Given the description of an element on the screen output the (x, y) to click on. 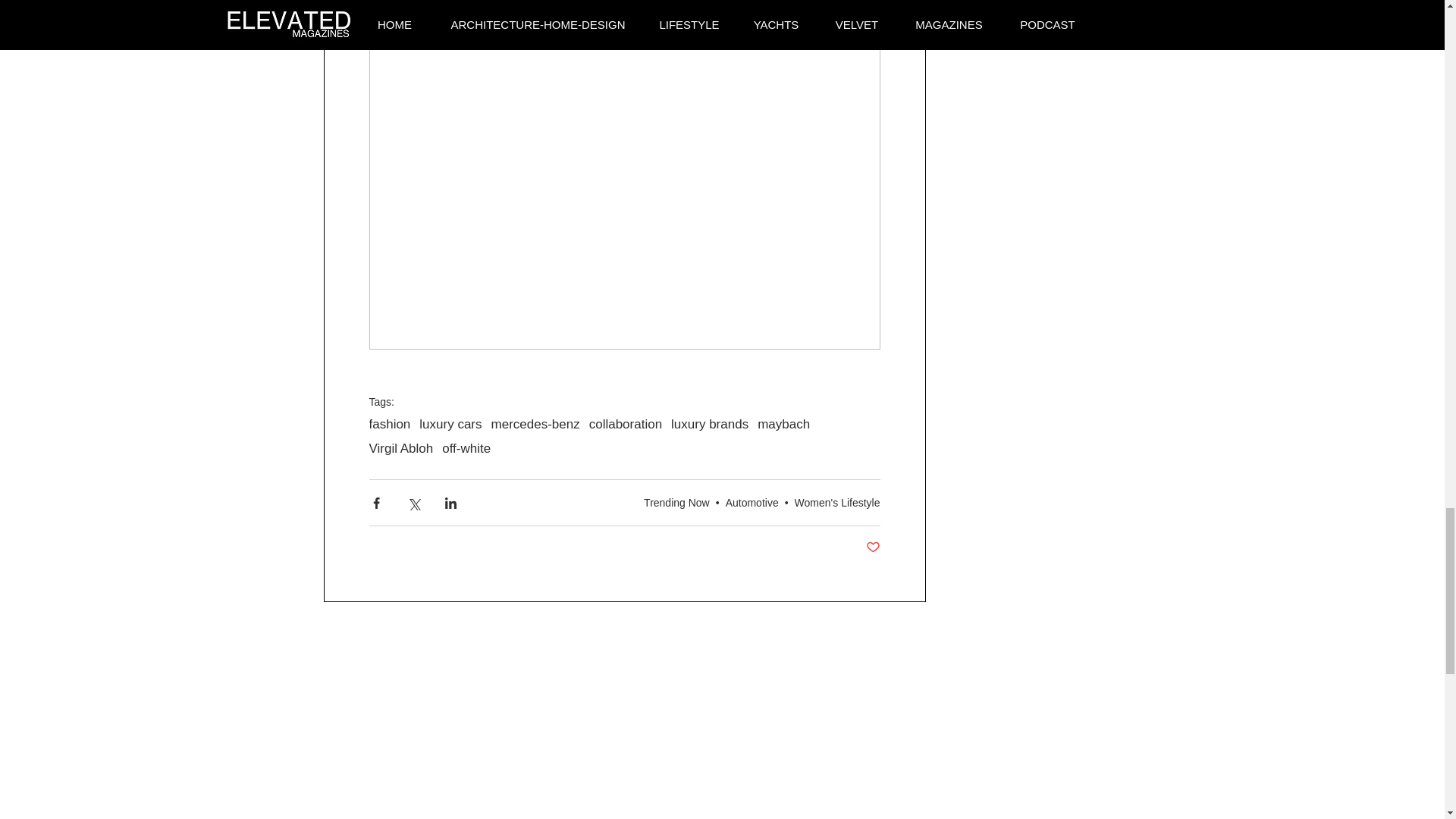
fashion (389, 424)
luxury cars (450, 424)
maybach (783, 424)
Automotive (751, 502)
off-white (466, 448)
collaboration (625, 424)
Women's Lifestyle (837, 502)
luxury brands (709, 424)
Virgil Abloh (400, 448)
Trending Now (676, 502)
mercedes-benz (535, 424)
